Given the description of an element on the screen output the (x, y) to click on. 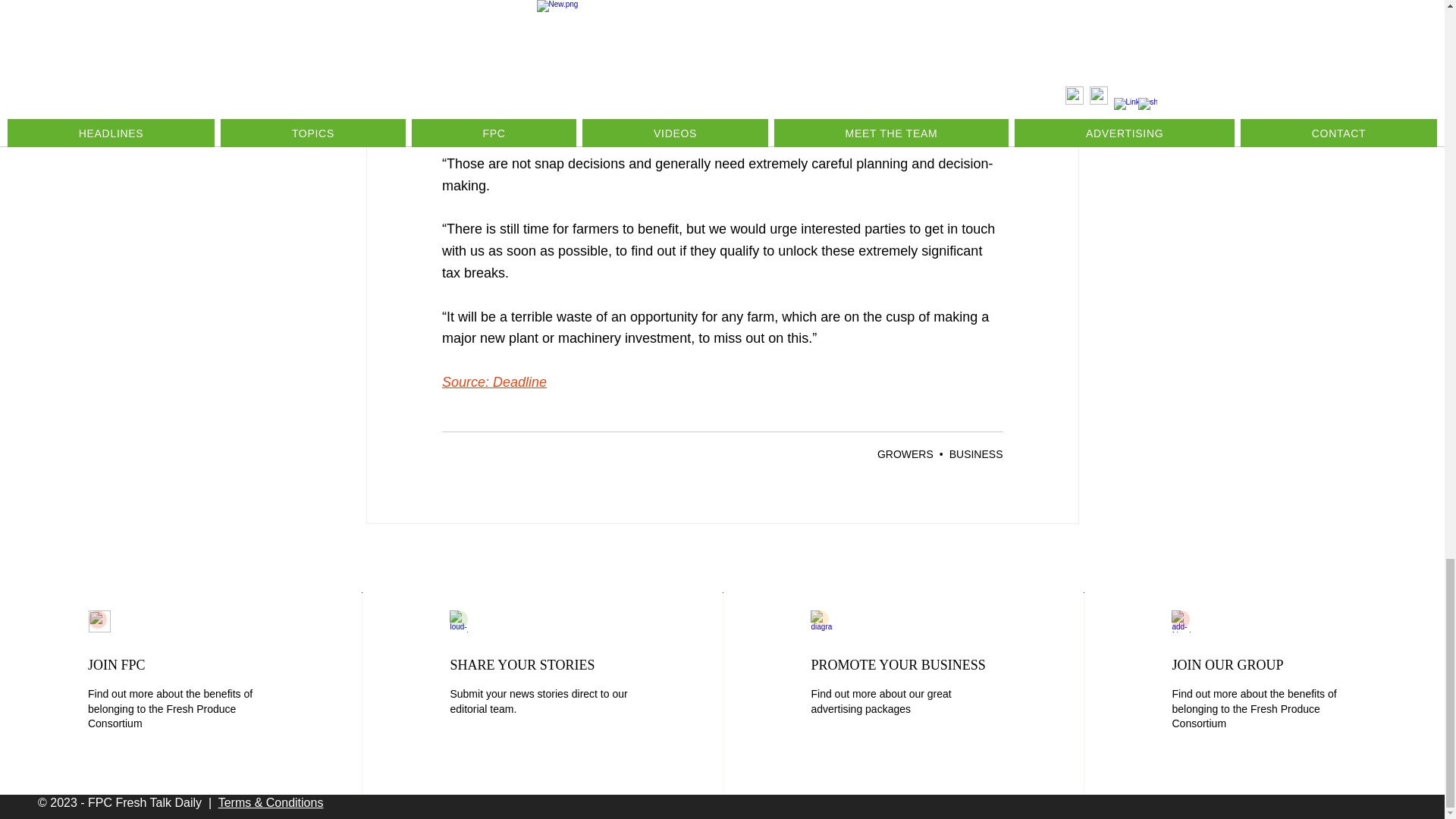
GROWERS (905, 453)
PROMOTE YOUR BUSINESS (897, 664)
partnership.png (821, 621)
partnership.png (99, 621)
SHARE YOUR STORIES (521, 664)
Submit your news stories direct to our editorial team. (538, 700)
partnership.png (460, 621)
BUSINESS (976, 453)
JOIN FPC (116, 664)
Source: Deadline (493, 381)
partnership.png (1182, 621)
